Given the description of an element on the screen output the (x, y) to click on. 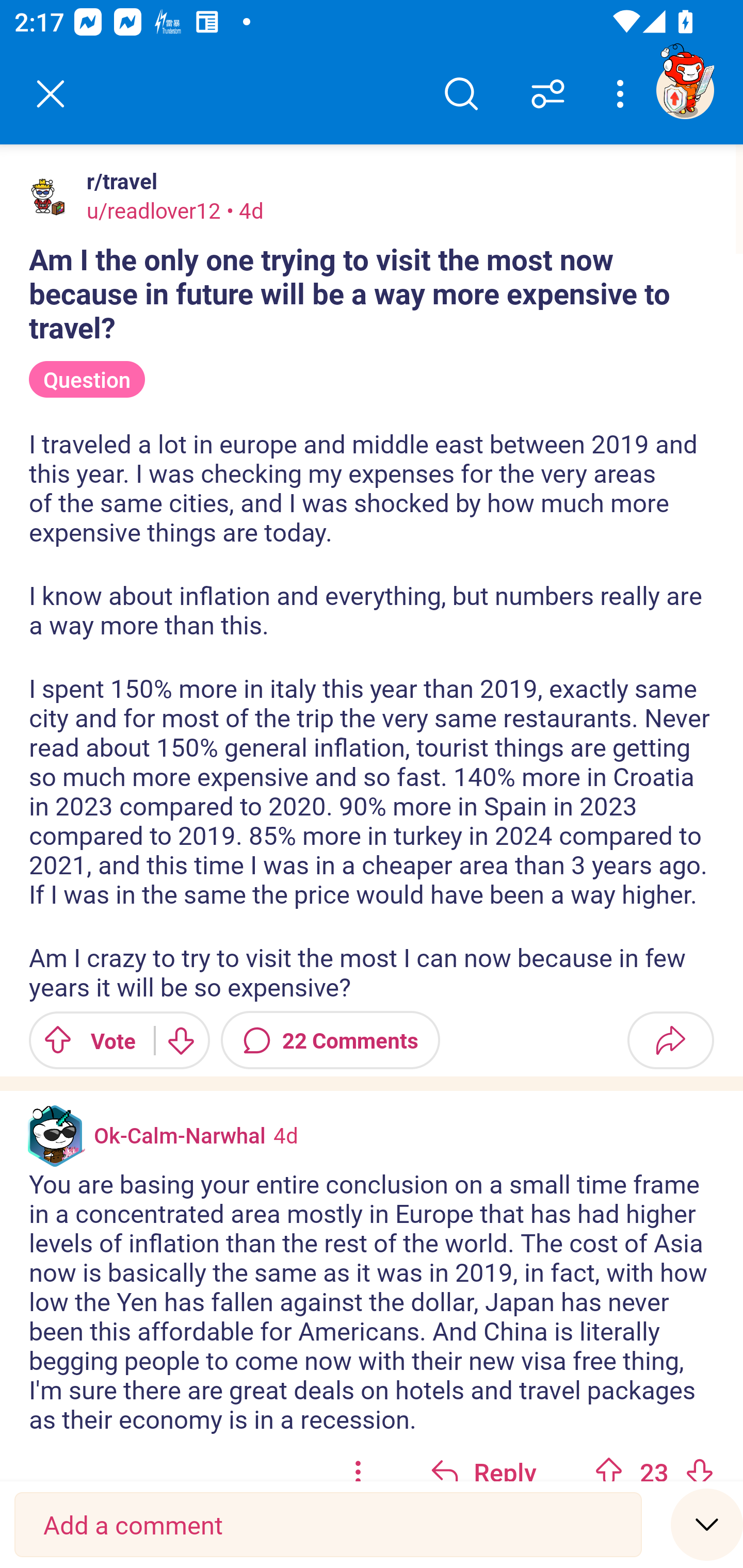
Back (50, 93)
TestAppium002 account (685, 90)
Search comments (460, 93)
Sort comments (547, 93)
More options (623, 93)
r/travel (118, 181)
Avatar (50, 196)
u/readlover12 (153, 210)
Question (86, 379)
Upvote Vote (83, 1040)
Downvote (179, 1040)
22 Comments (329, 1040)
Share (670, 1040)
4d (285, 1134)
options (358, 1458)
Reply (483, 1458)
Upvote 23 23 votes Downvote (654, 1458)
Upvote (608, 1469)
Downvote (699, 1469)
Speed read (706, 1524)
Add a comment (327, 1524)
